Given the description of an element on the screen output the (x, y) to click on. 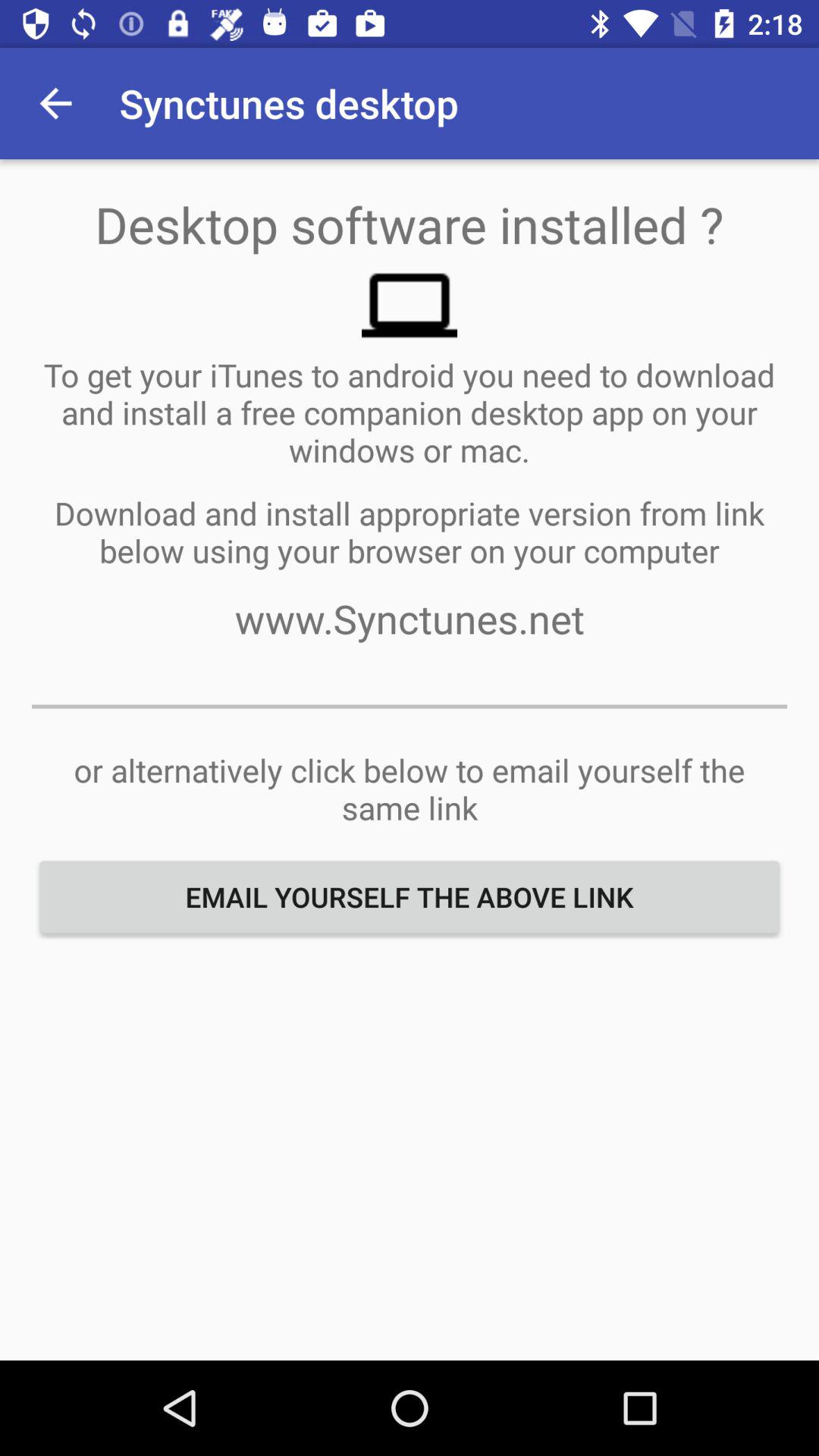
turn off item at the top left corner (55, 103)
